Given the description of an element on the screen output the (x, y) to click on. 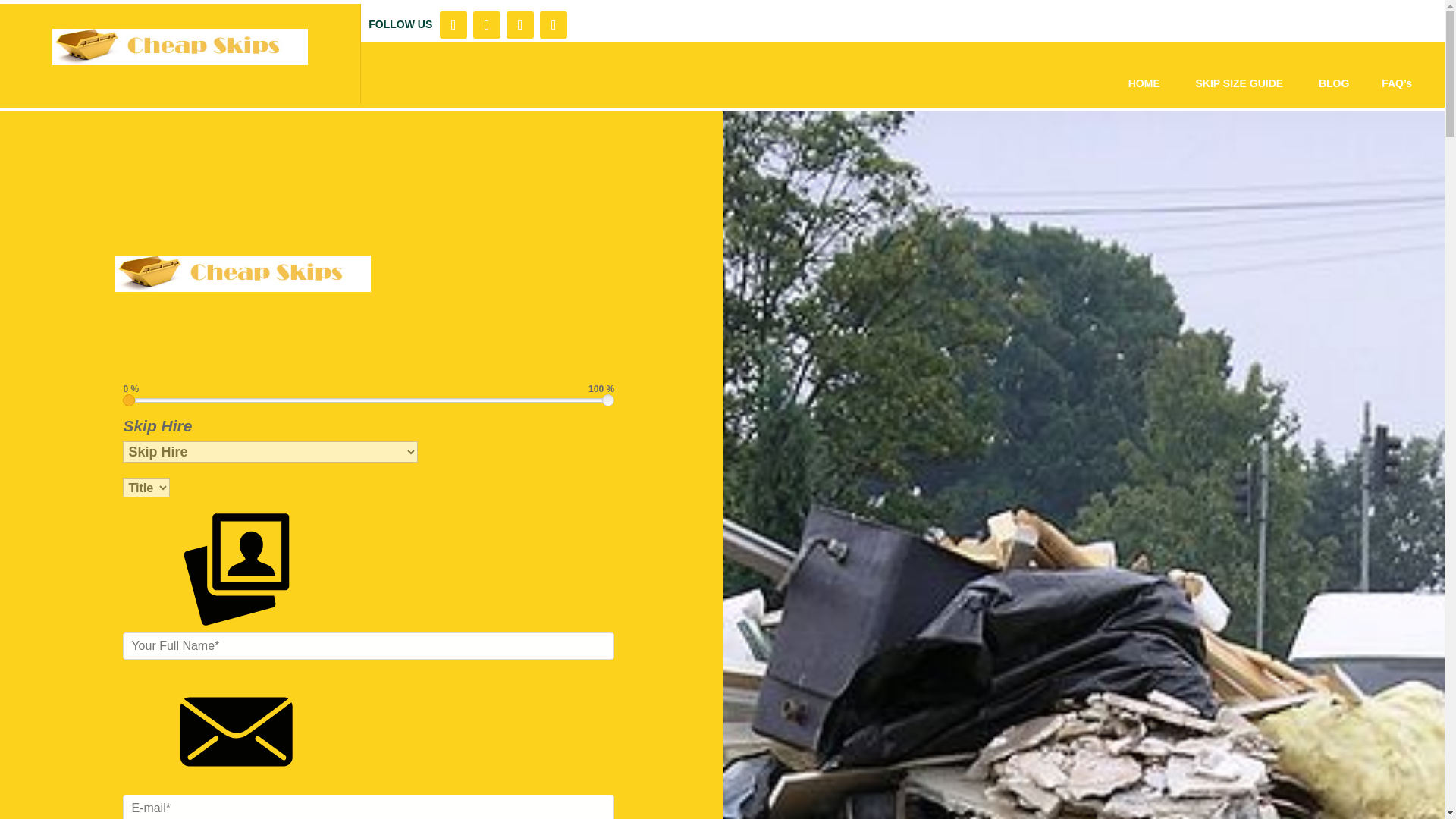
Cheap Skips (243, 273)
Cheap Skips (179, 46)
Follow on Facebook (453, 24)
SKIP SIZE GUIDE (1240, 82)
Follow on Instagram (520, 24)
HOME (1144, 82)
Follow on X (486, 24)
BLOG (1334, 82)
Follow on Pinterest (553, 24)
